Given the description of an element on the screen output the (x, y) to click on. 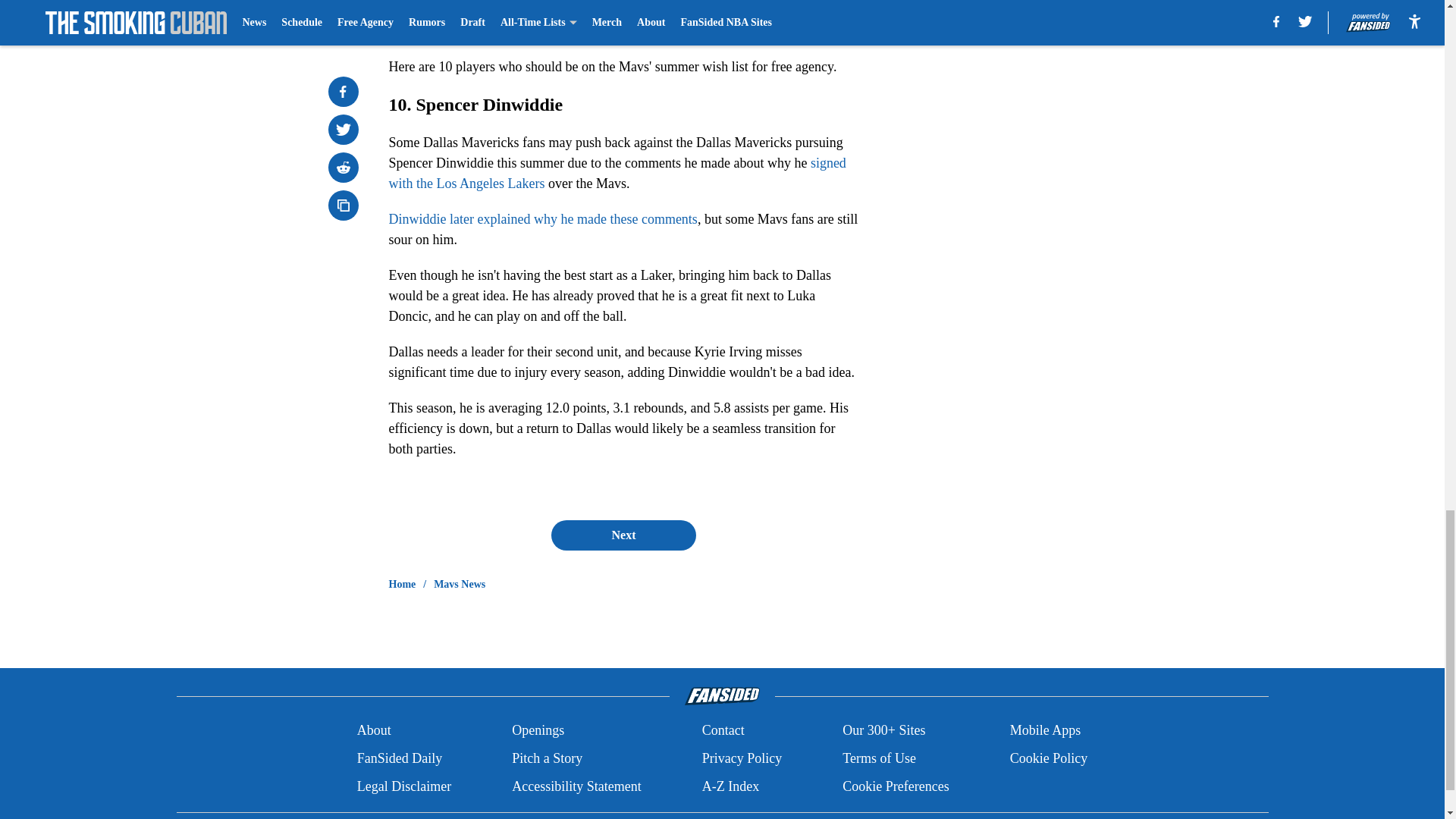
Mavs News (458, 584)
Contact (722, 730)
Next (622, 535)
Home (401, 584)
Dinwiddie later explained why he made these comments (542, 218)
signed with the Los Angeles Lakers (616, 172)
Openings (538, 730)
About (373, 730)
